Given the description of an element on the screen output the (x, y) to click on. 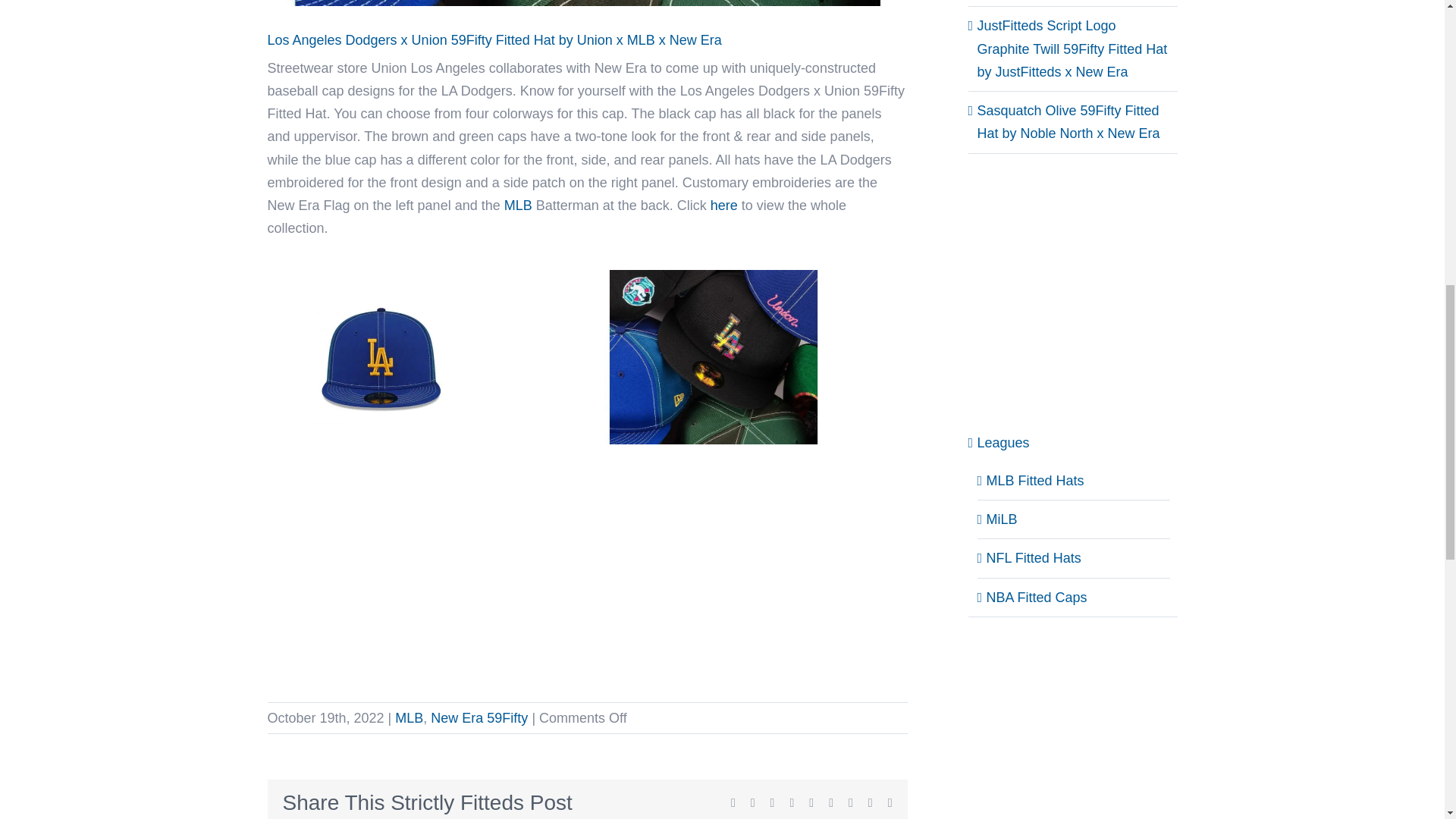
MLB (408, 717)
MLB (517, 205)
here (724, 205)
New Era 59Fifty (478, 717)
